Given the description of an element on the screen output the (x, y) to click on. 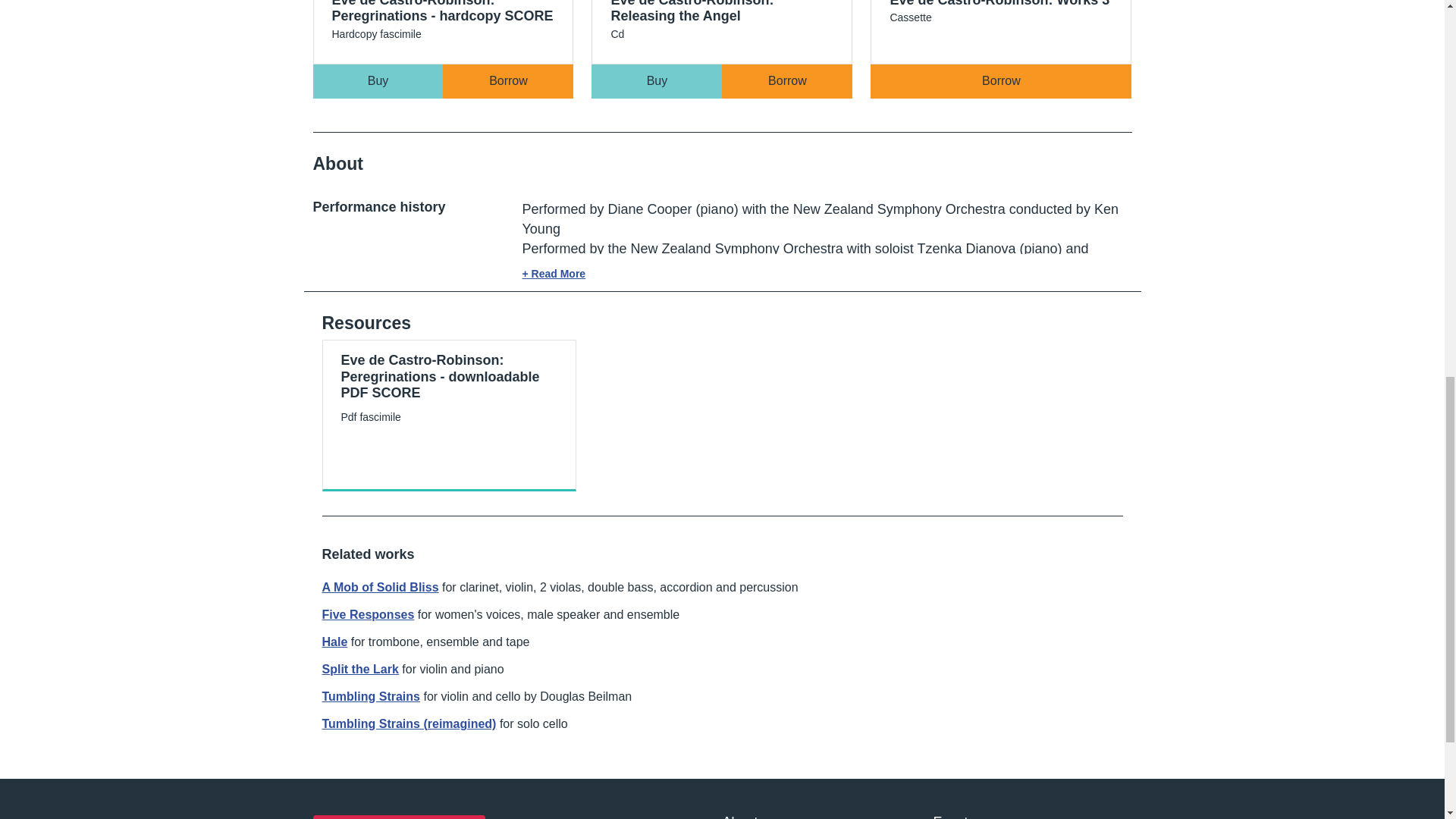
Buy (656, 81)
Borrow (786, 81)
Borrow (507, 81)
Buy (377, 81)
